Given the description of an element on the screen output the (x, y) to click on. 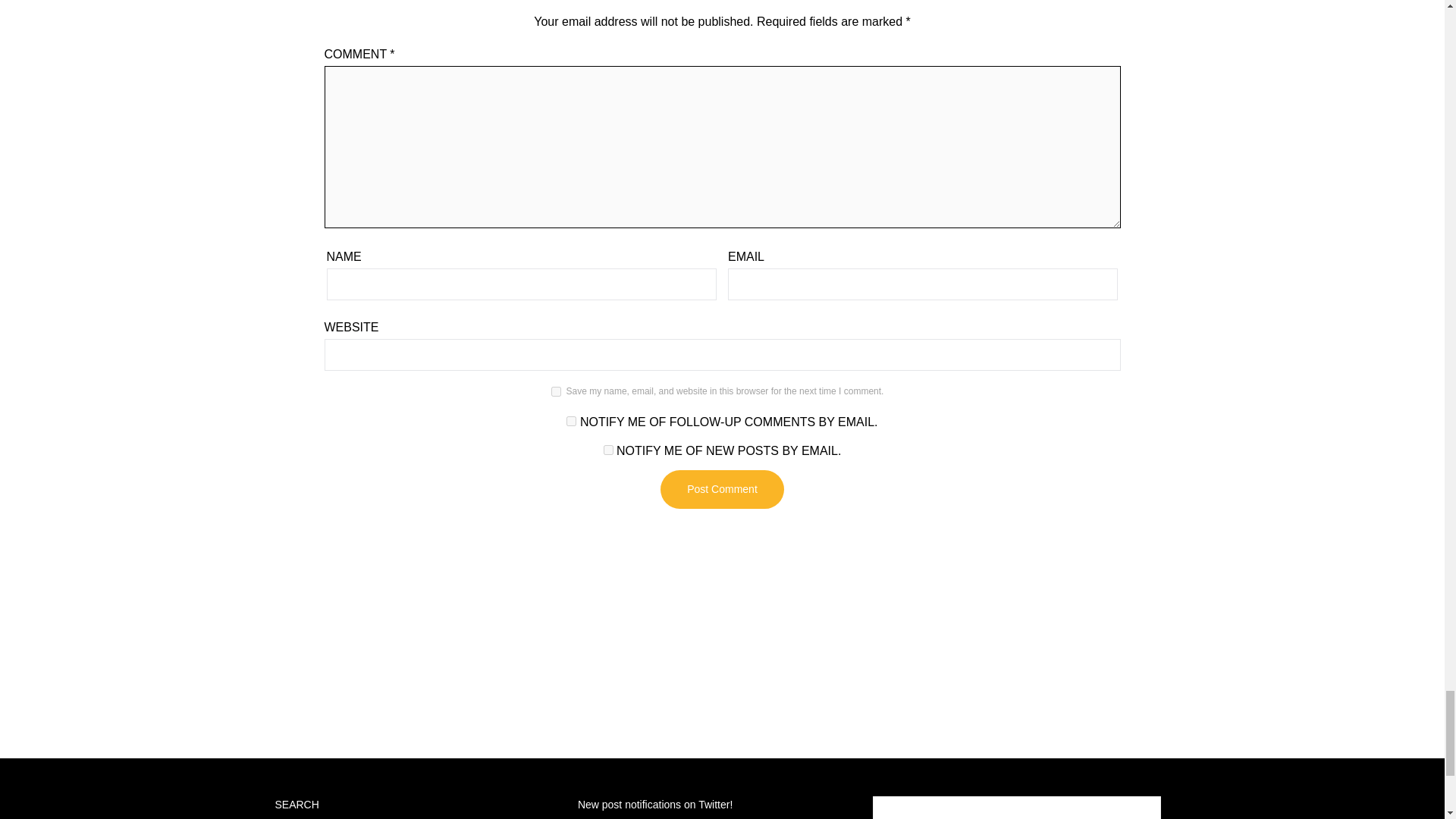
yes (555, 391)
subscribe (571, 420)
subscribe (608, 450)
Post Comment (722, 489)
